Given the description of an element on the screen output the (x, y) to click on. 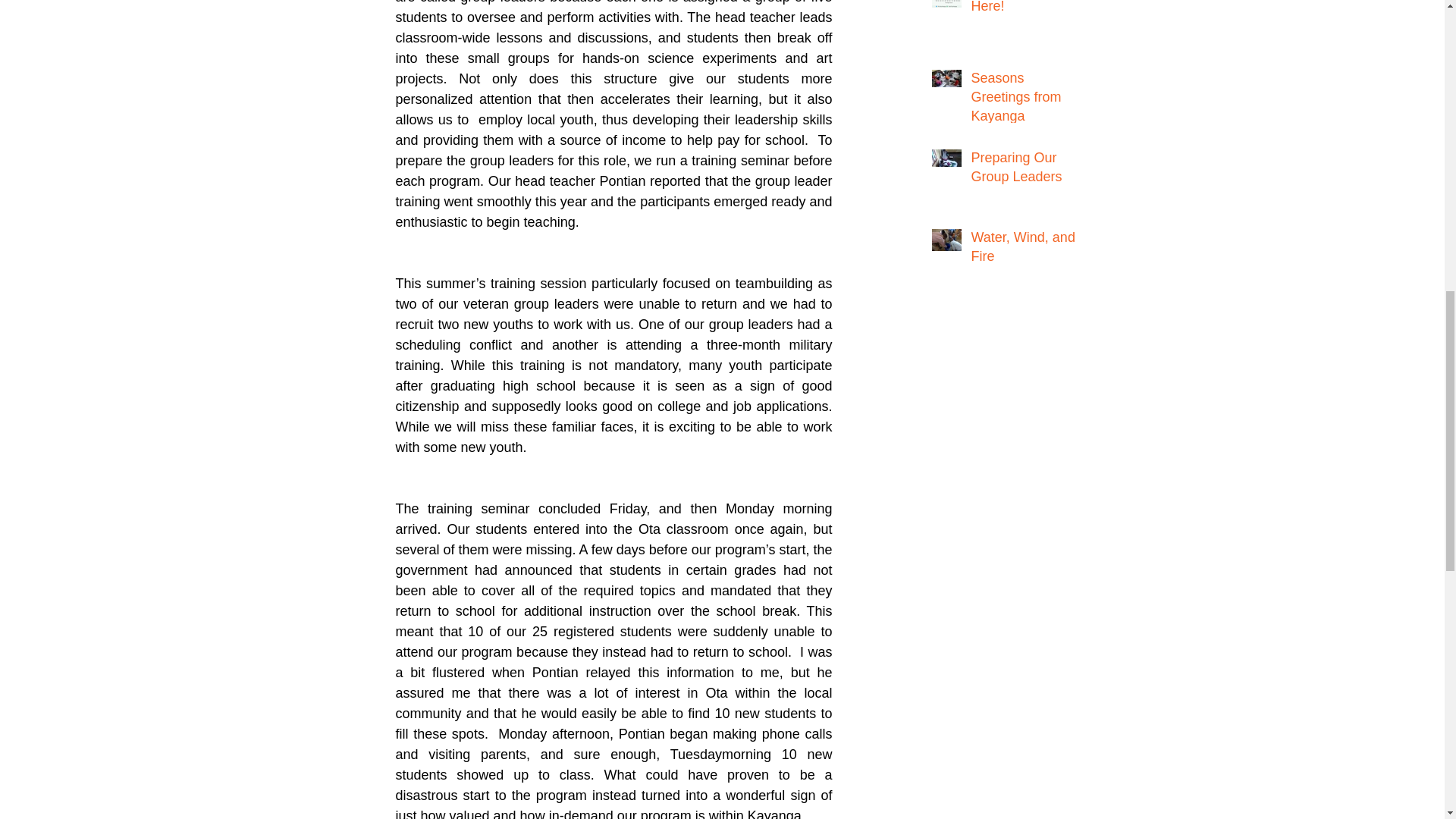
Preparing Our Group Leaders (1025, 170)
Seasons Greetings from Kayanga (1025, 100)
Yes, We Are Still Here! (1025, 11)
Water, Wind, and Fire (1025, 249)
